Given the description of an element on the screen output the (x, y) to click on. 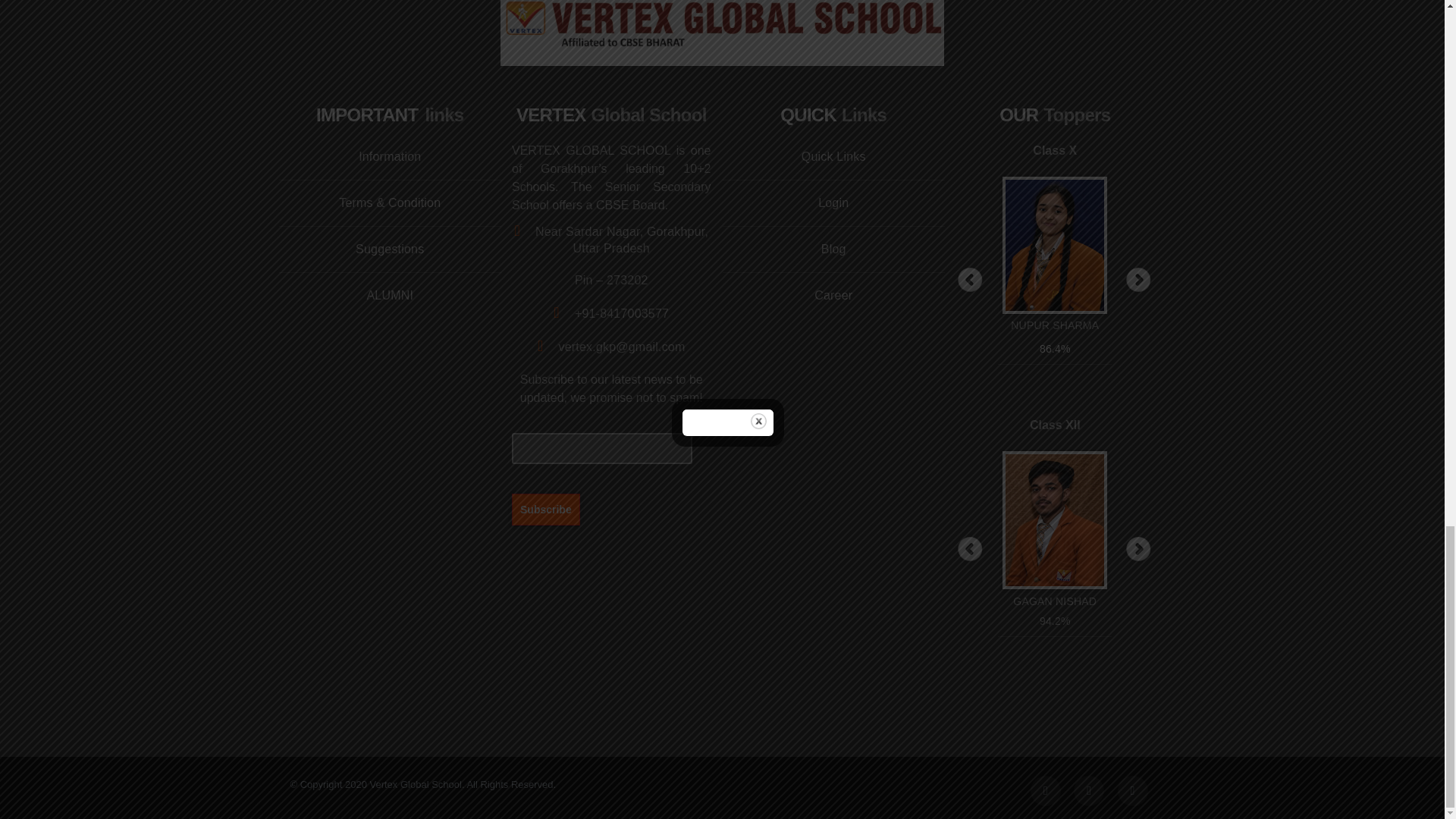
Subscribe (545, 508)
